Given the description of an element on the screen output the (x, y) to click on. 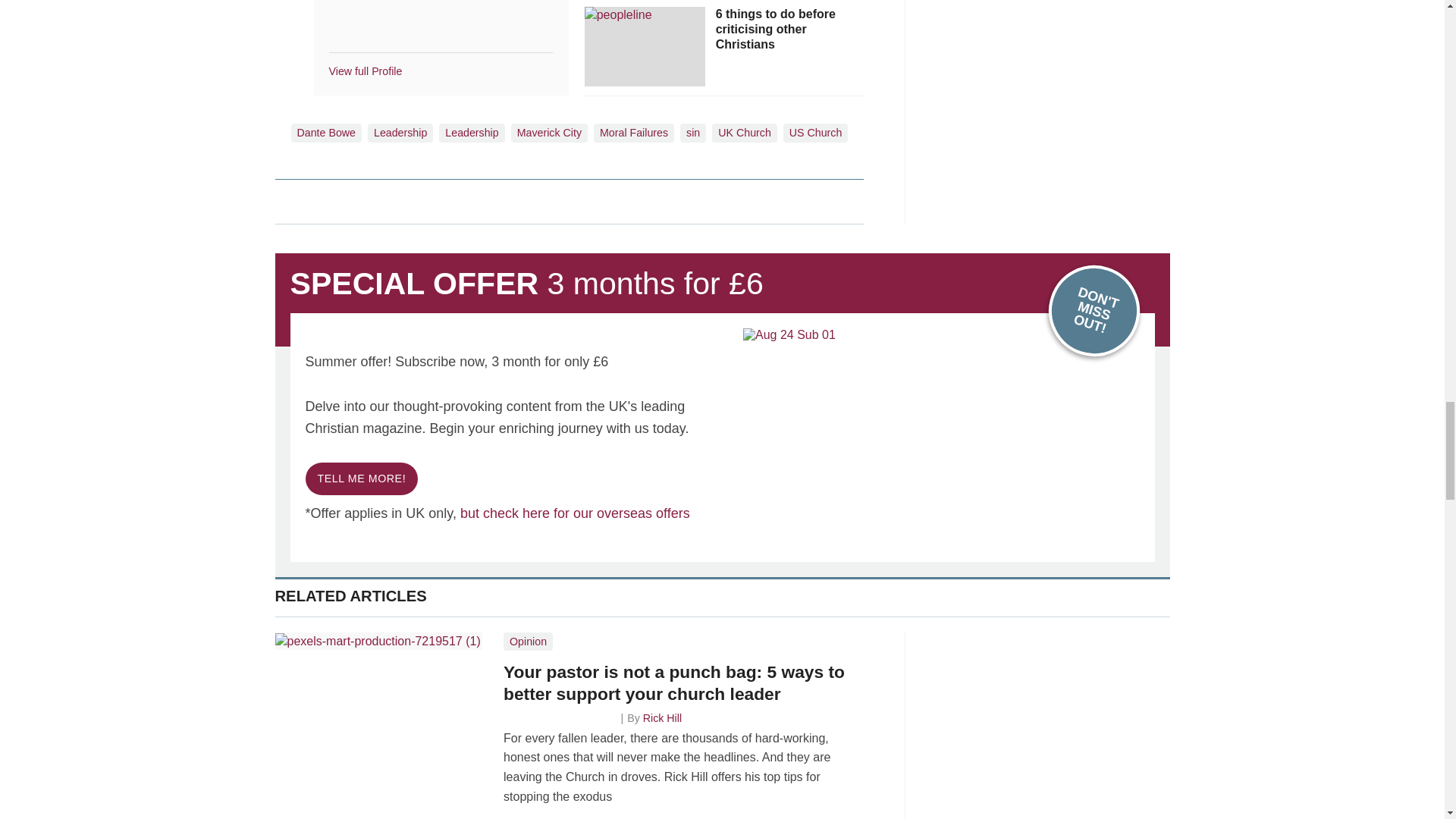
Share this on Linked in (352, 200)
Share this on Facebook (288, 200)
Email this article (386, 200)
Share this on Twitter (320, 200)
